Given the description of an element on the screen output the (x, y) to click on. 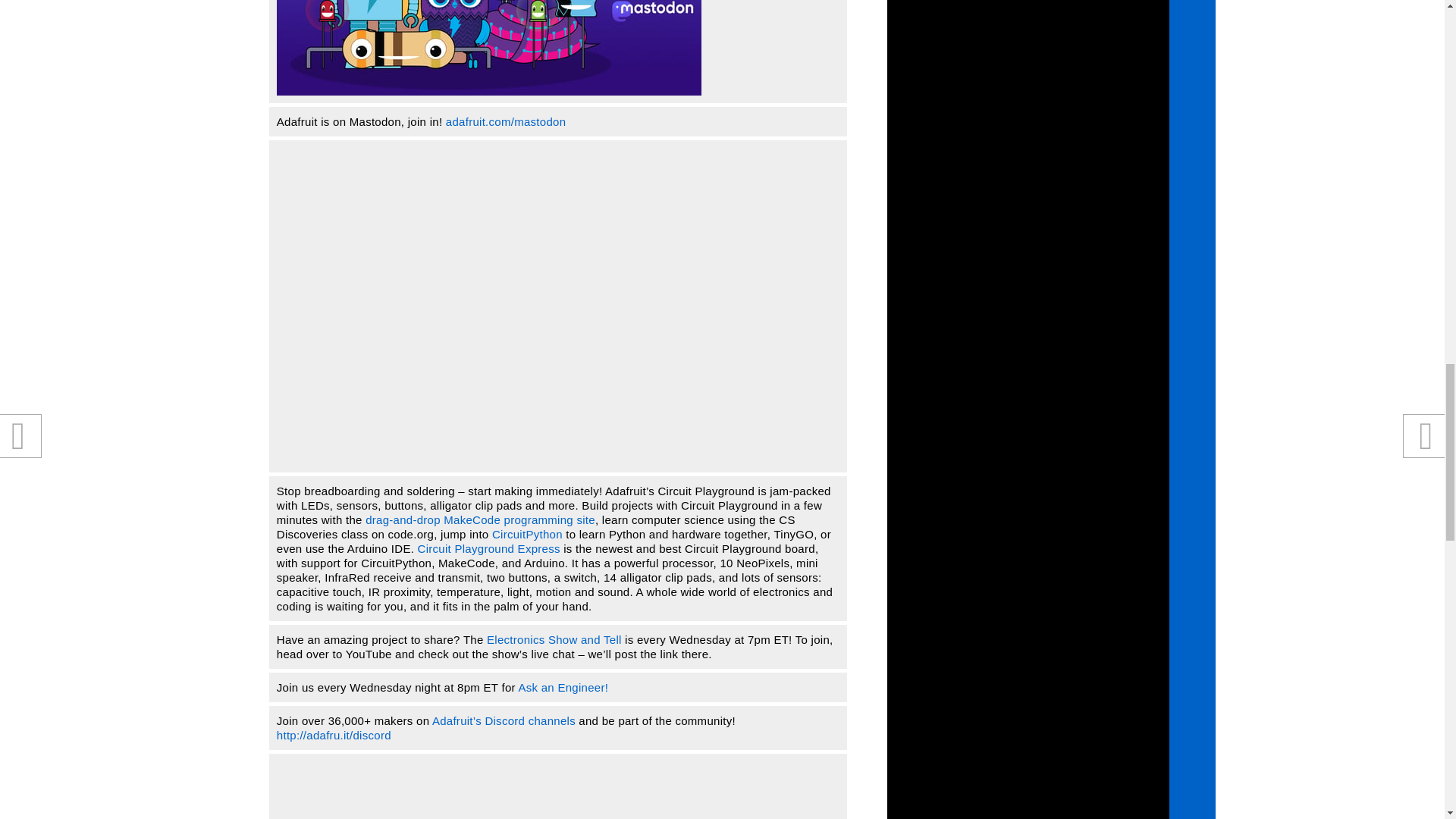
ASK AN ENGINEER (563, 686)
